Given the description of an element on the screen output the (x, y) to click on. 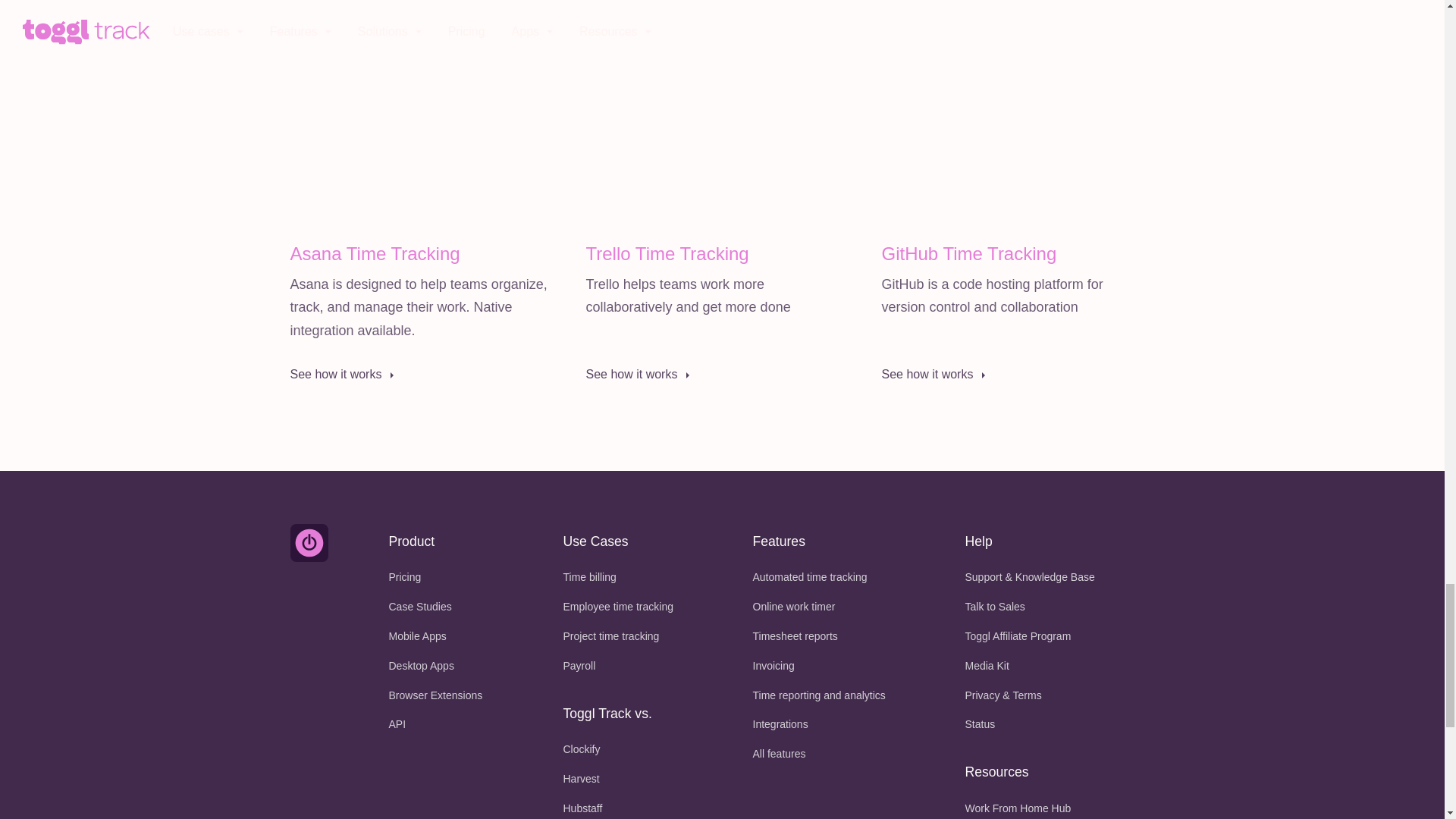
See how it works (1009, 374)
See how it works (714, 374)
See how it works (418, 374)
